Given the description of an element on the screen output the (x, y) to click on. 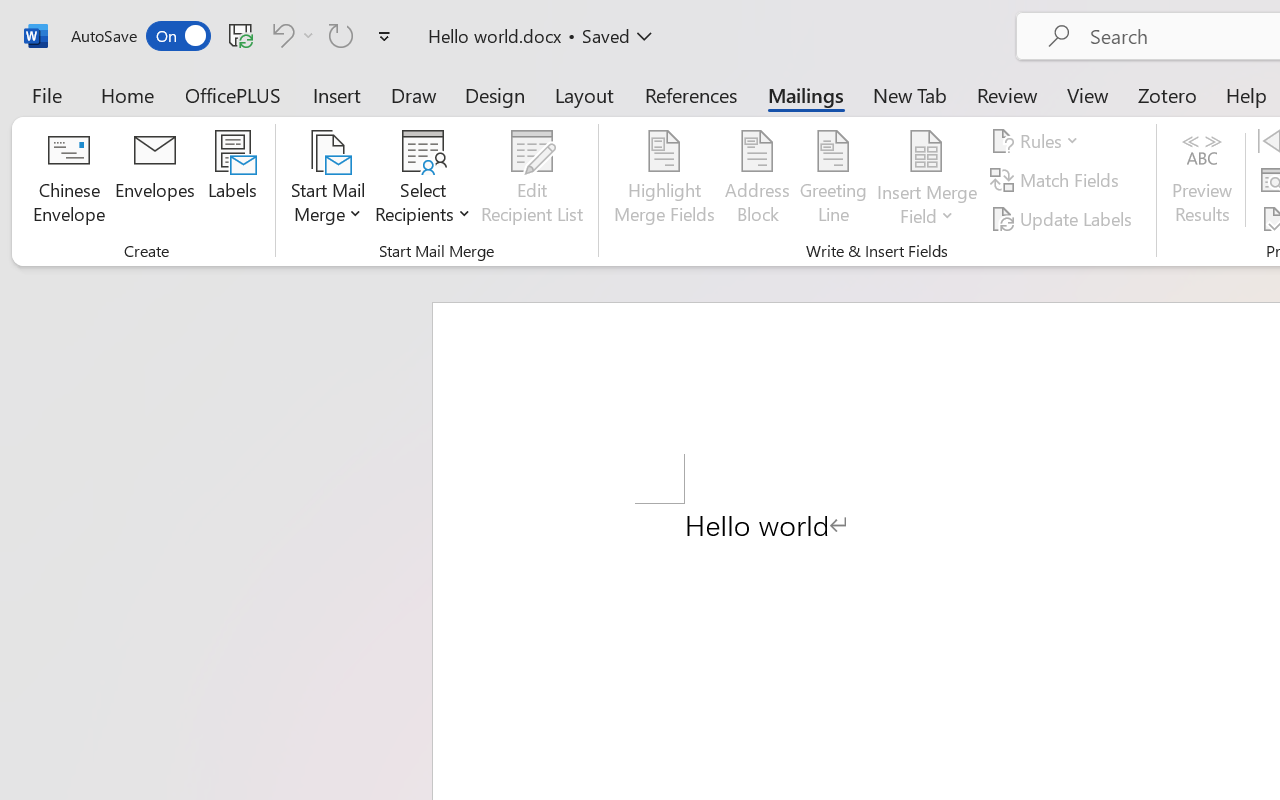
New Tab (909, 94)
Design (495, 94)
Insert (337, 94)
Customize Quick Access Toolbar (384, 35)
Highlight Merge Fields (664, 179)
Can't Undo (290, 35)
View (1087, 94)
More Options (927, 208)
Address Block... (757, 179)
OfficePLUS (233, 94)
References (690, 94)
Can't Undo (280, 35)
Quick Access Toolbar (233, 36)
Edit Recipient List... (532, 179)
